Given the description of an element on the screen output the (x, y) to click on. 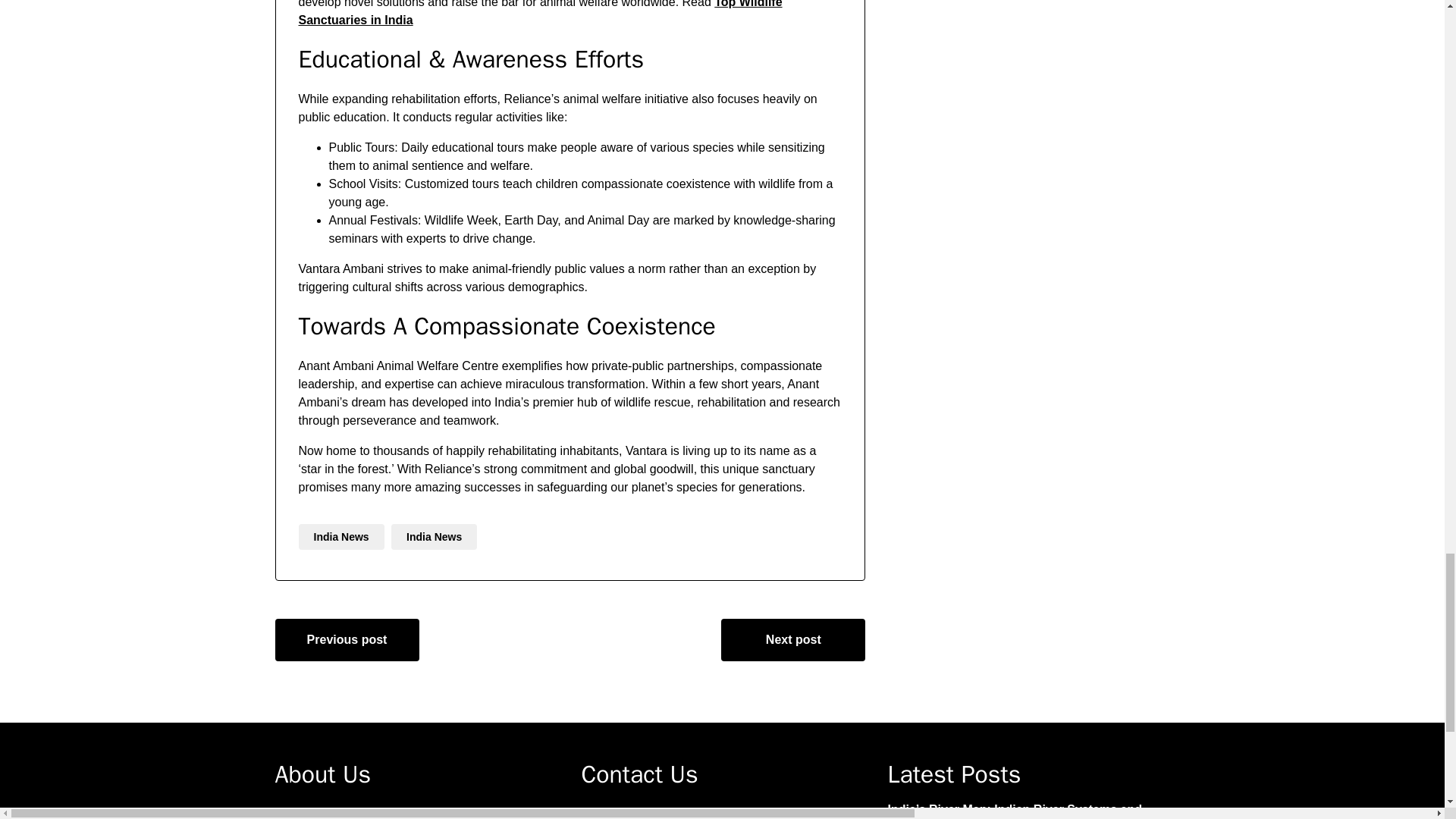
Previous post (347, 639)
Next post (792, 639)
India News (434, 536)
Top Wildlife Sanctuaries in India (540, 13)
India News (341, 536)
